Given the description of an element on the screen output the (x, y) to click on. 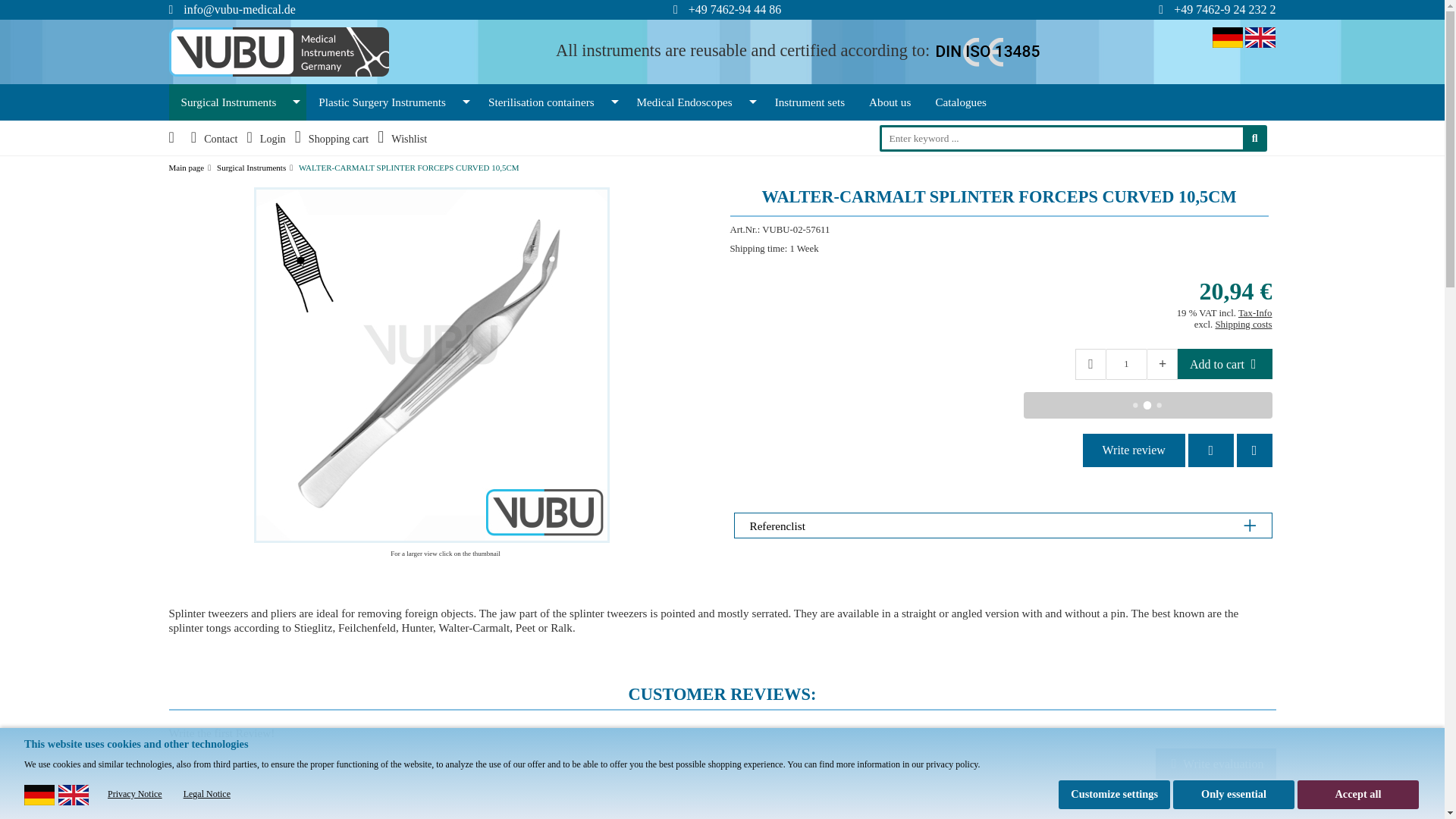
Faxnummer (1224, 9)
VUBU - Medical Instrumente (278, 50)
Telefon (734, 9)
E-Mail-Adresse (239, 9)
1 (1126, 364)
English (1259, 37)
Deutsch (1227, 37)
Surgical Instruments (236, 102)
